Given the description of an element on the screen output the (x, y) to click on. 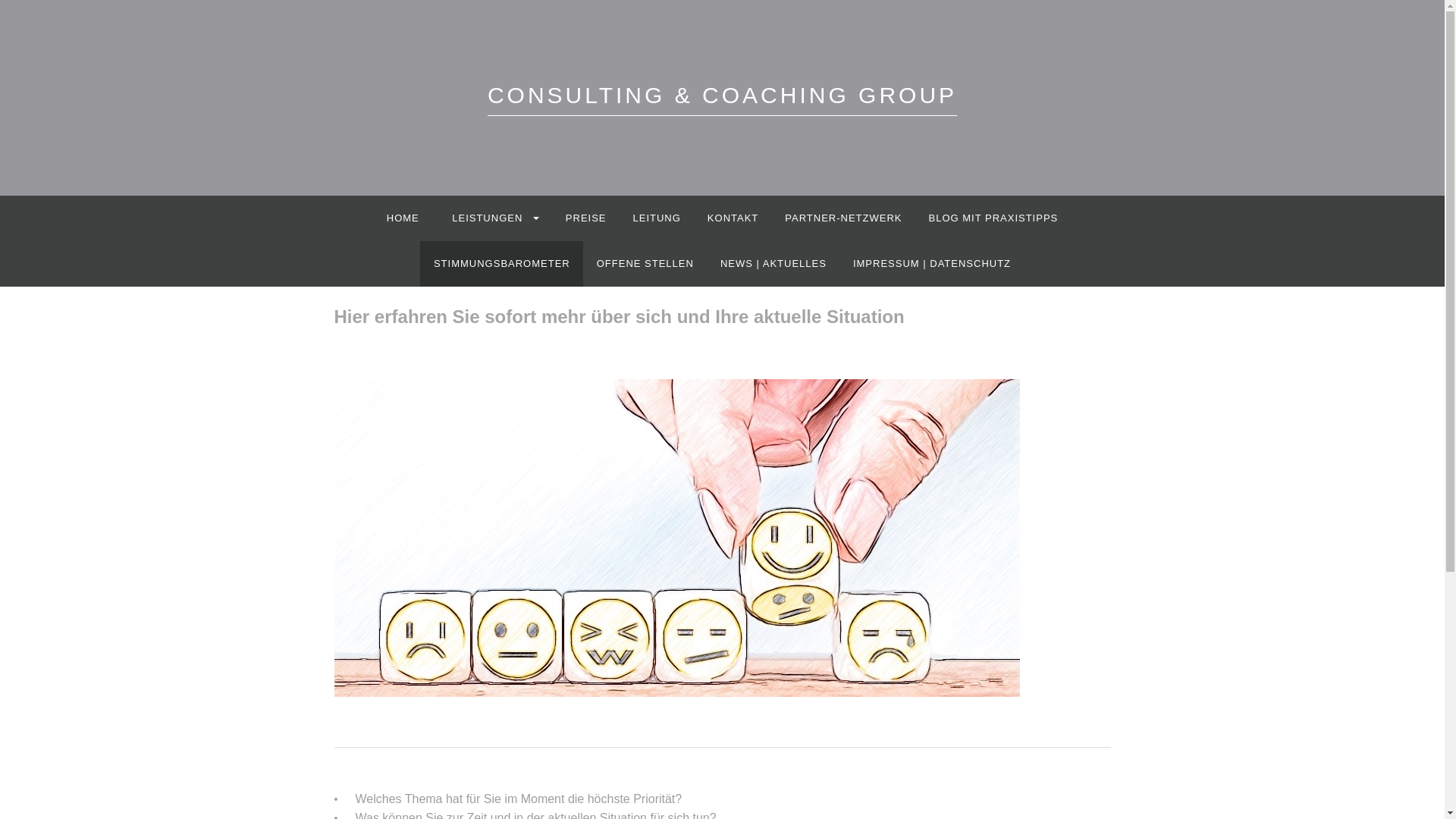
CONSULTING & COACHING GROUP Element type: text (722, 99)
HOME Element type: text (402, 218)
PREISE Element type: text (585, 218)
KONTAKT Element type: text (732, 218)
IMPRESSUM | DATENSCHUTZ Element type: text (931, 263)
PARTNER-NETZWERK Element type: text (843, 218)
LEITUNG Element type: text (656, 218)
NEWS | AKTUELLES Element type: text (772, 263)
BLOG MIT PRAXISTIPPS Element type: text (993, 218)
OFFENE STELLEN Element type: text (644, 263)
STIMMUNGSBAROMETER Element type: text (501, 263)
